Given the description of an element on the screen output the (x, y) to click on. 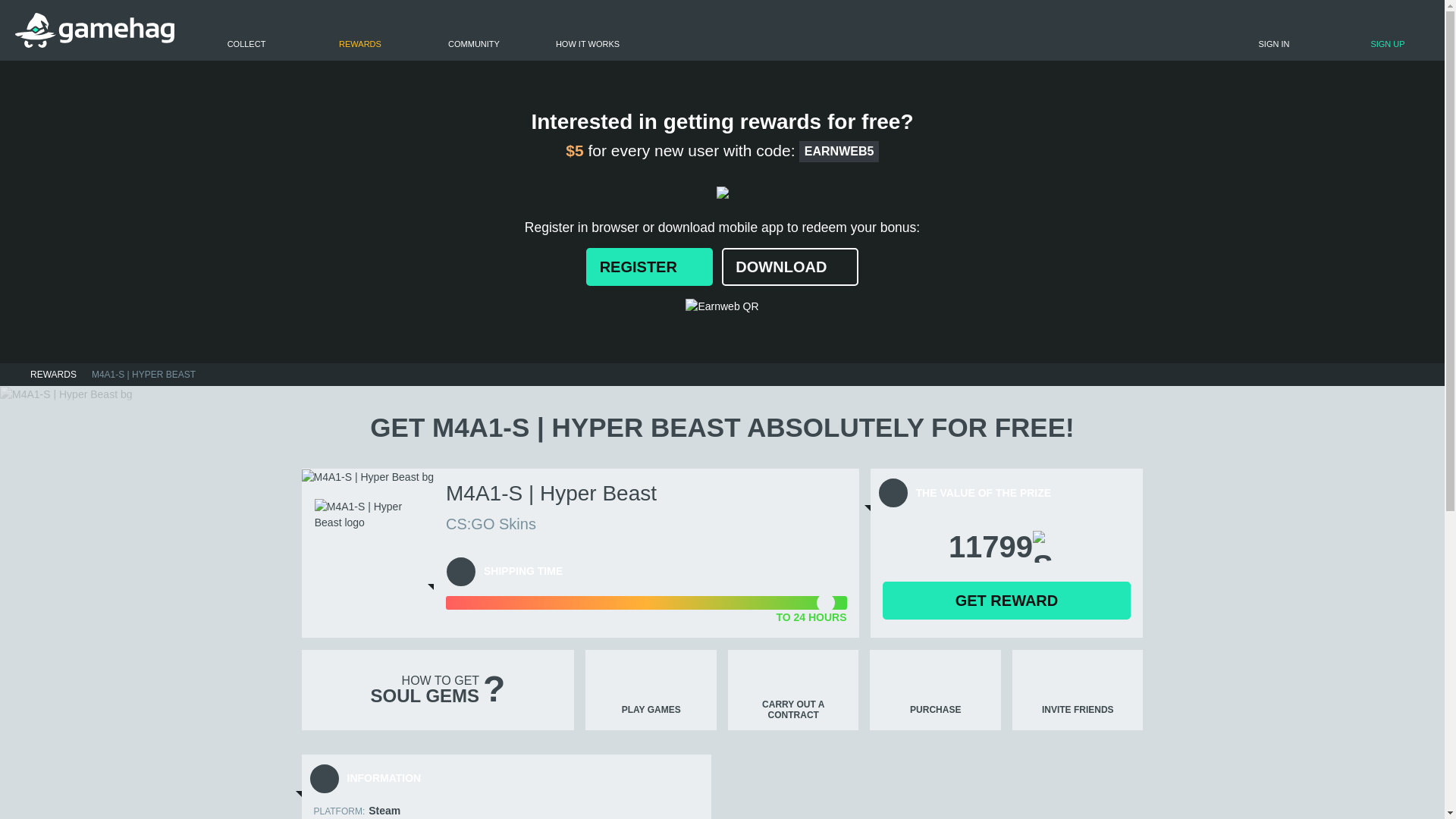
About us (588, 30)
COLLECT (245, 30)
Log in using your account on Google (1400, 35)
SIGN UP (1330, 35)
Store (359, 30)
Articles (473, 30)
Log in using your account on Facebook (1261, 35)
Log in using your account on Steam (1332, 35)
Gamehag - rewards for playing games (94, 30)
